Given the description of an element on the screen output the (x, y) to click on. 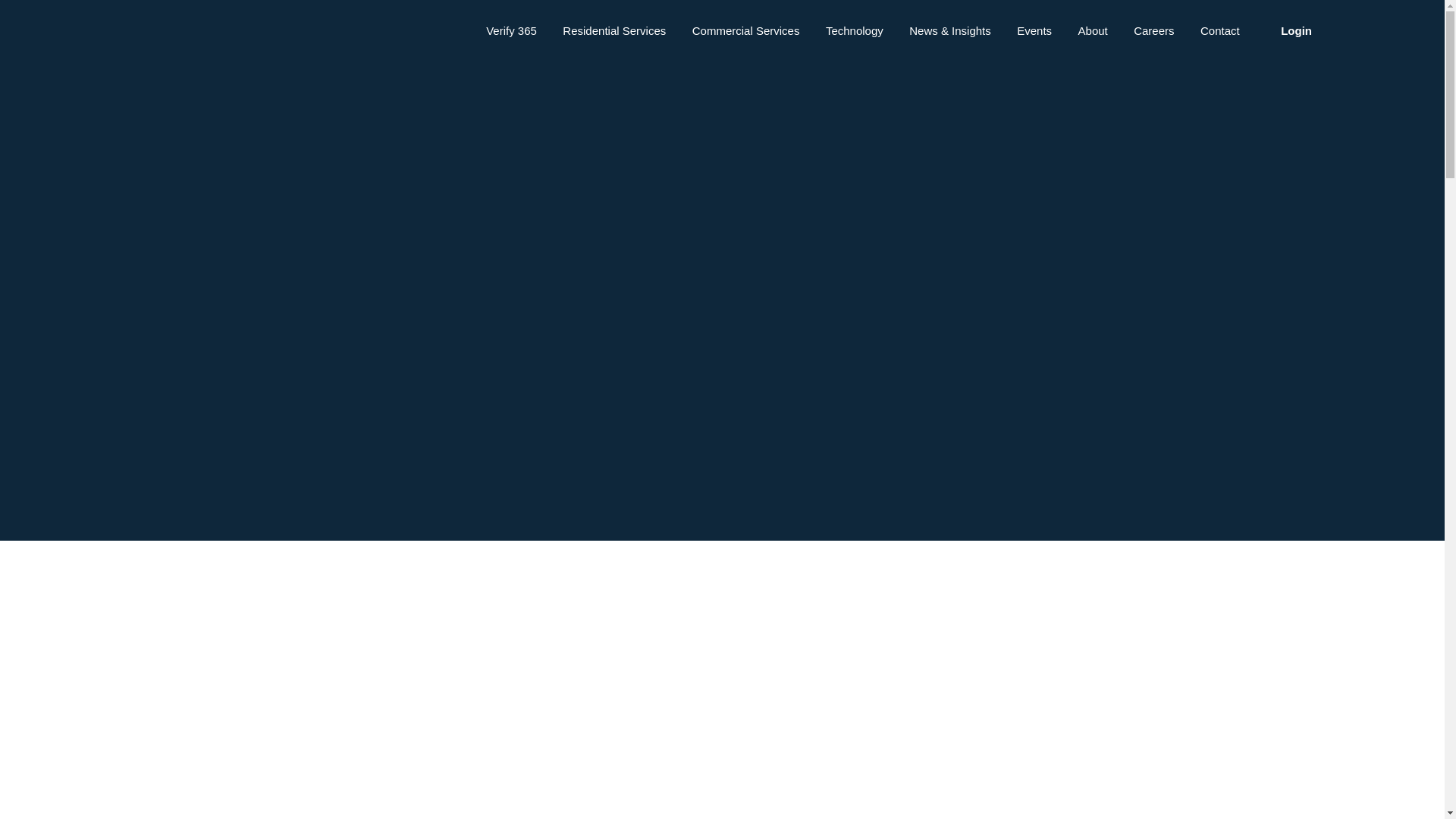
Commercial Services (746, 33)
Careers (1153, 33)
About (1093, 33)
Verify 365 (511, 33)
Events (1033, 33)
Contact (1219, 33)
Residential Services (613, 33)
Technology (854, 33)
Search (277, 34)
Login (1296, 33)
